Given the description of an element on the screen output the (x, y) to click on. 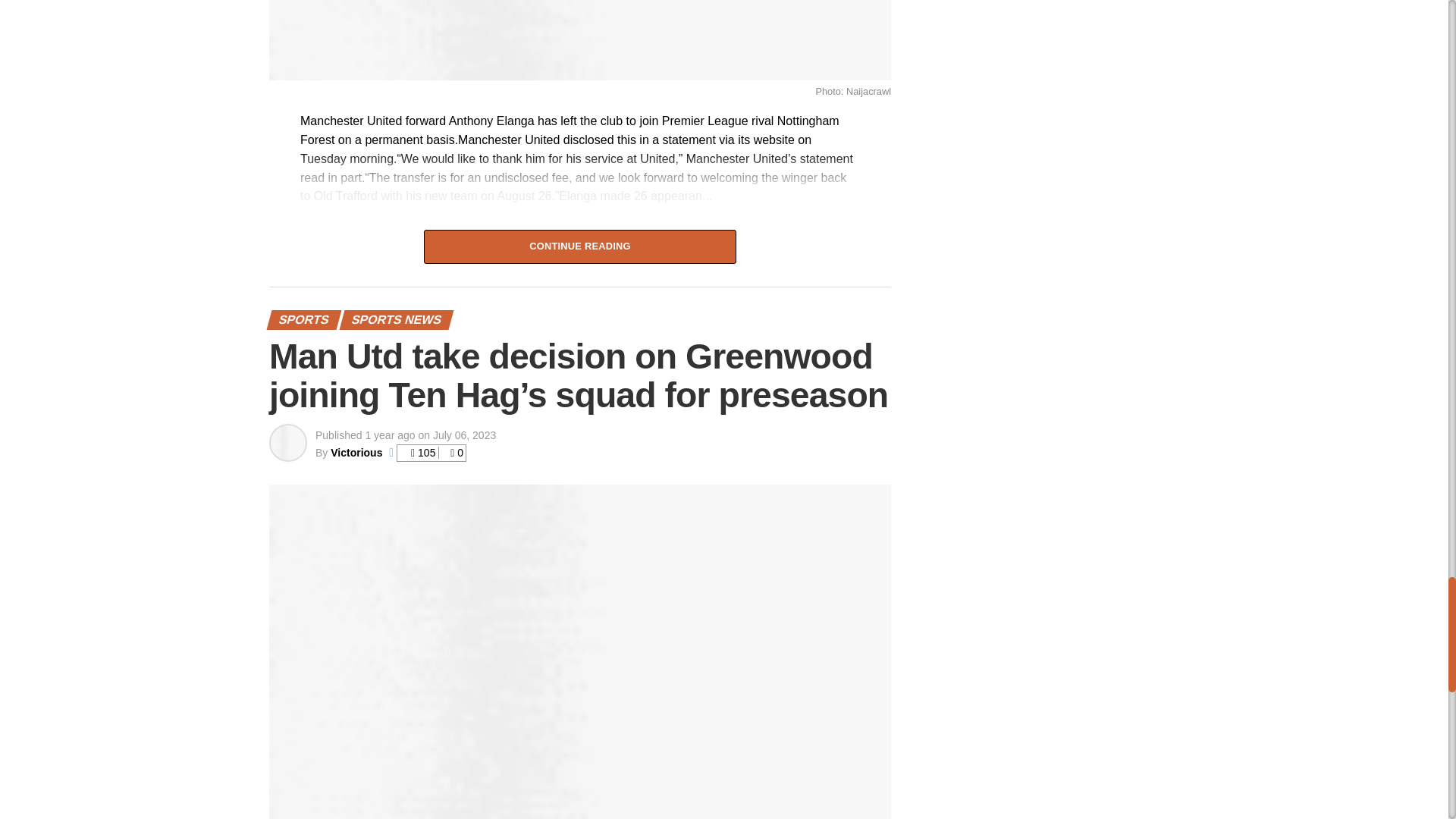
Posts by Victorious (355, 452)
